Given the description of an element on the screen output the (x, y) to click on. 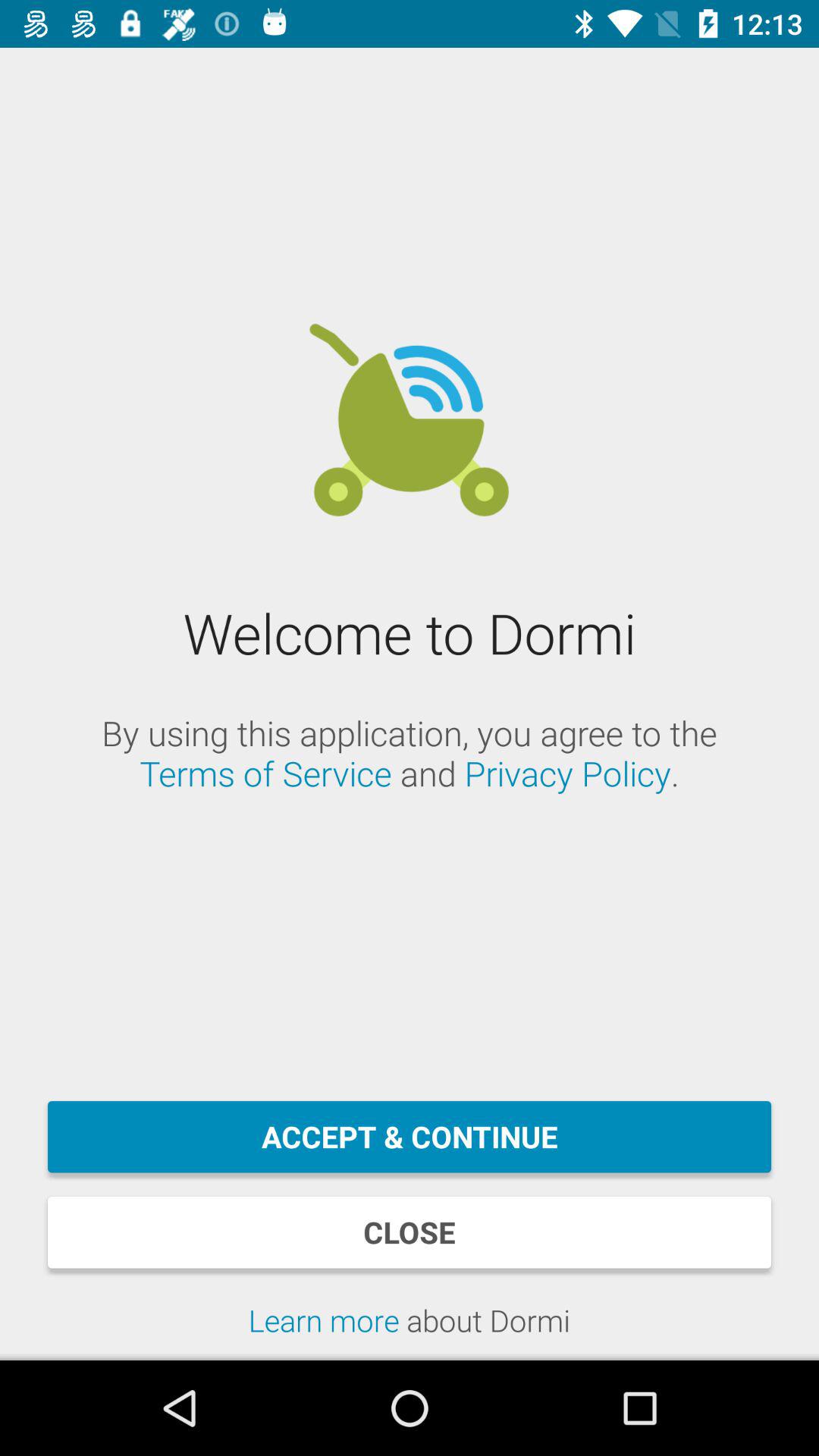
open the item above the learn more about icon (409, 1232)
